Given the description of an element on the screen output the (x, y) to click on. 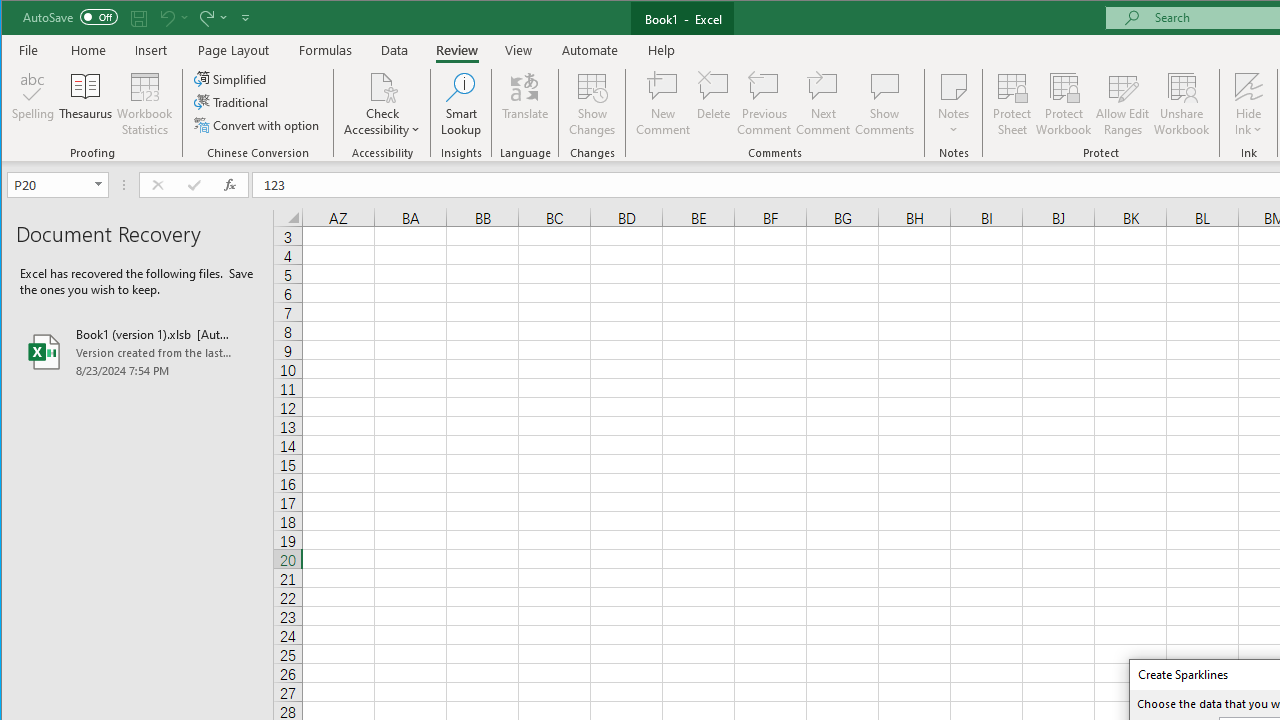
Delete (713, 104)
Traditional (232, 101)
Protect Sheet... (1012, 104)
